Given the description of an element on the screen output the (x, y) to click on. 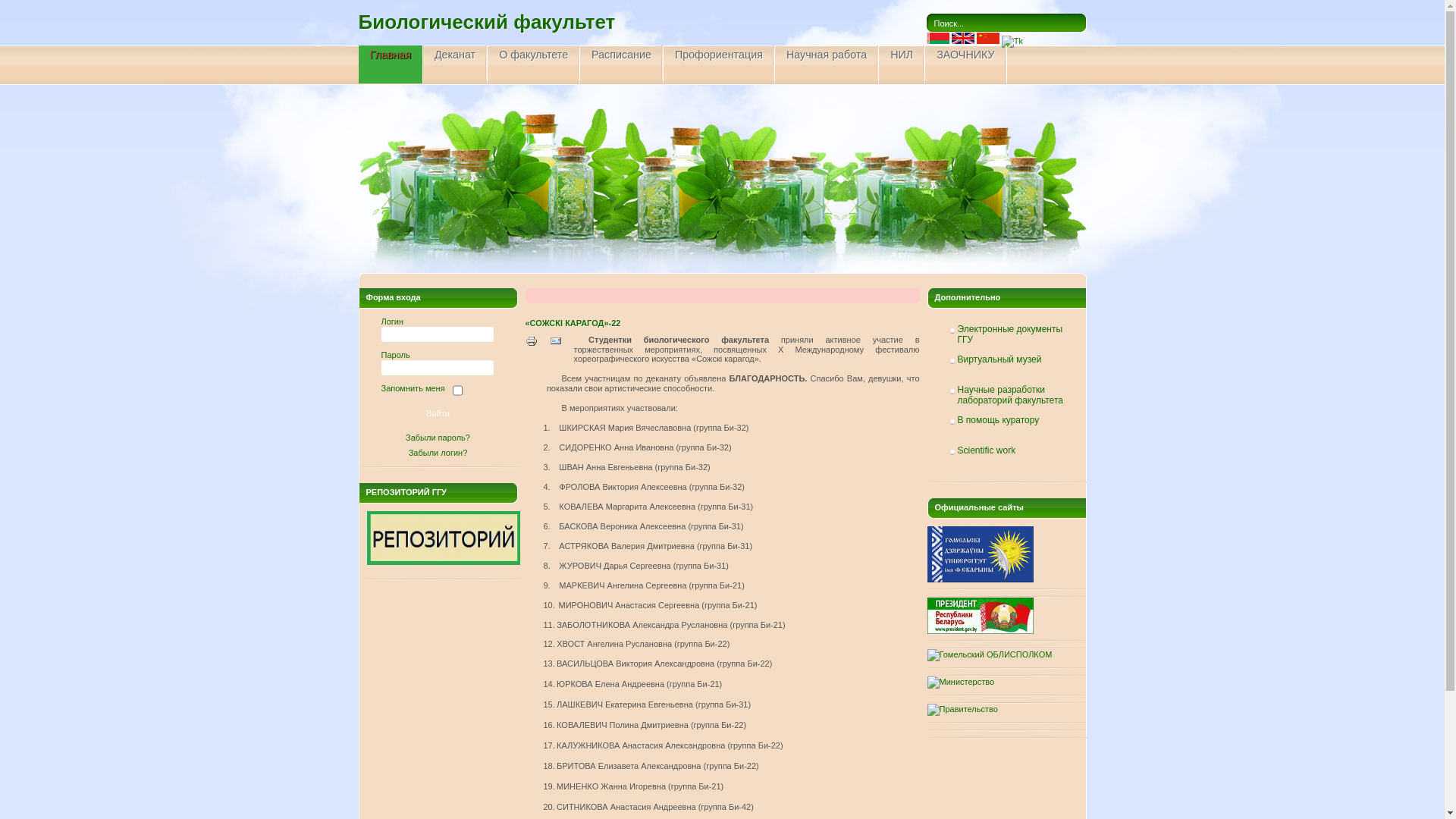
Scientific work Element type: text (1009, 451)
GSU Element type: hover (979, 578)
